Given the description of an element on the screen output the (x, y) to click on. 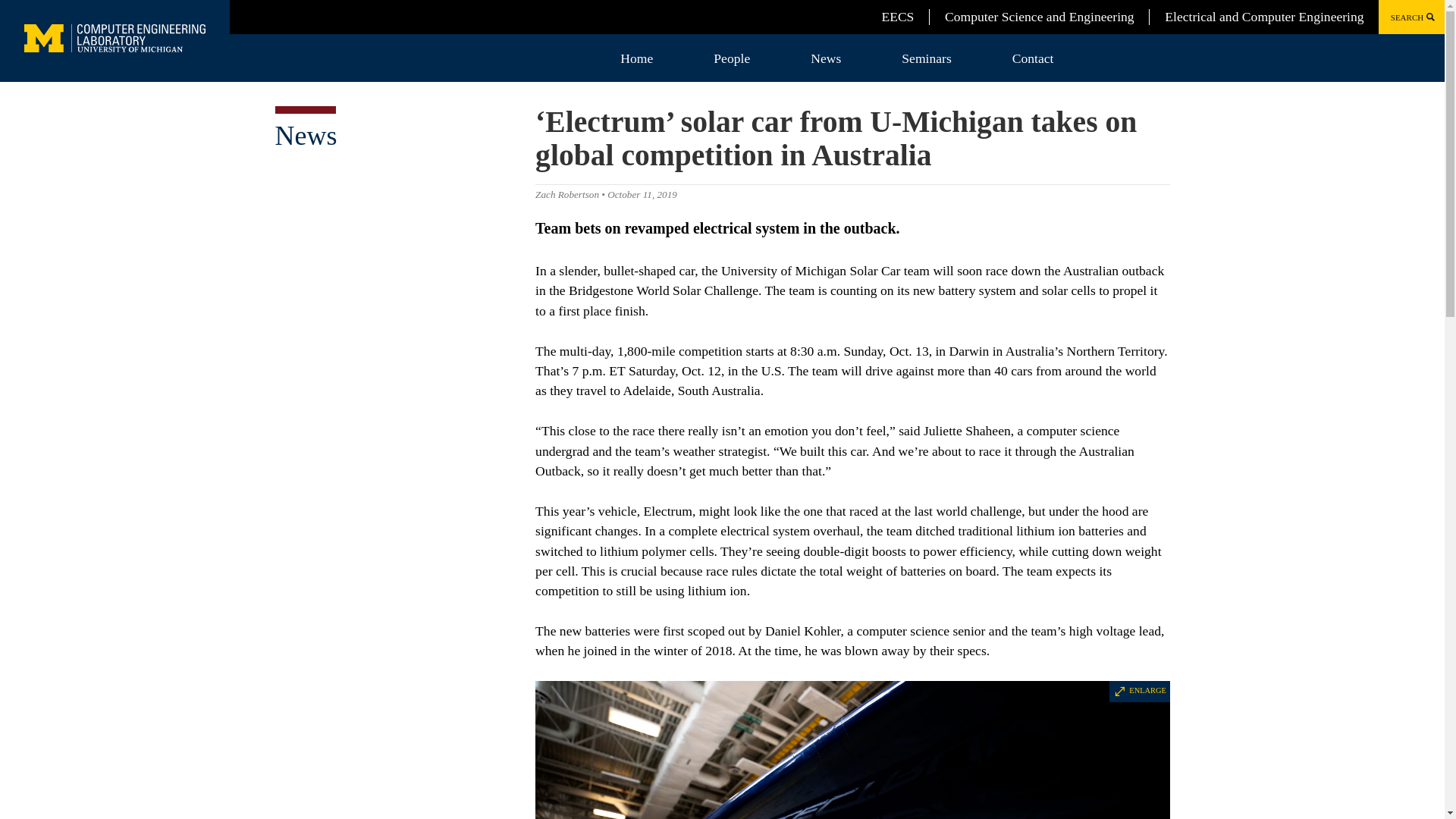
People (731, 57)
Contact (1032, 57)
Home (636, 57)
Computer Science and Engineering (1039, 16)
News (825, 57)
Electrical and Computer Engineering (1263, 16)
News (305, 135)
EECS (897, 16)
Seminars (925, 57)
